Given the description of an element on the screen output the (x, y) to click on. 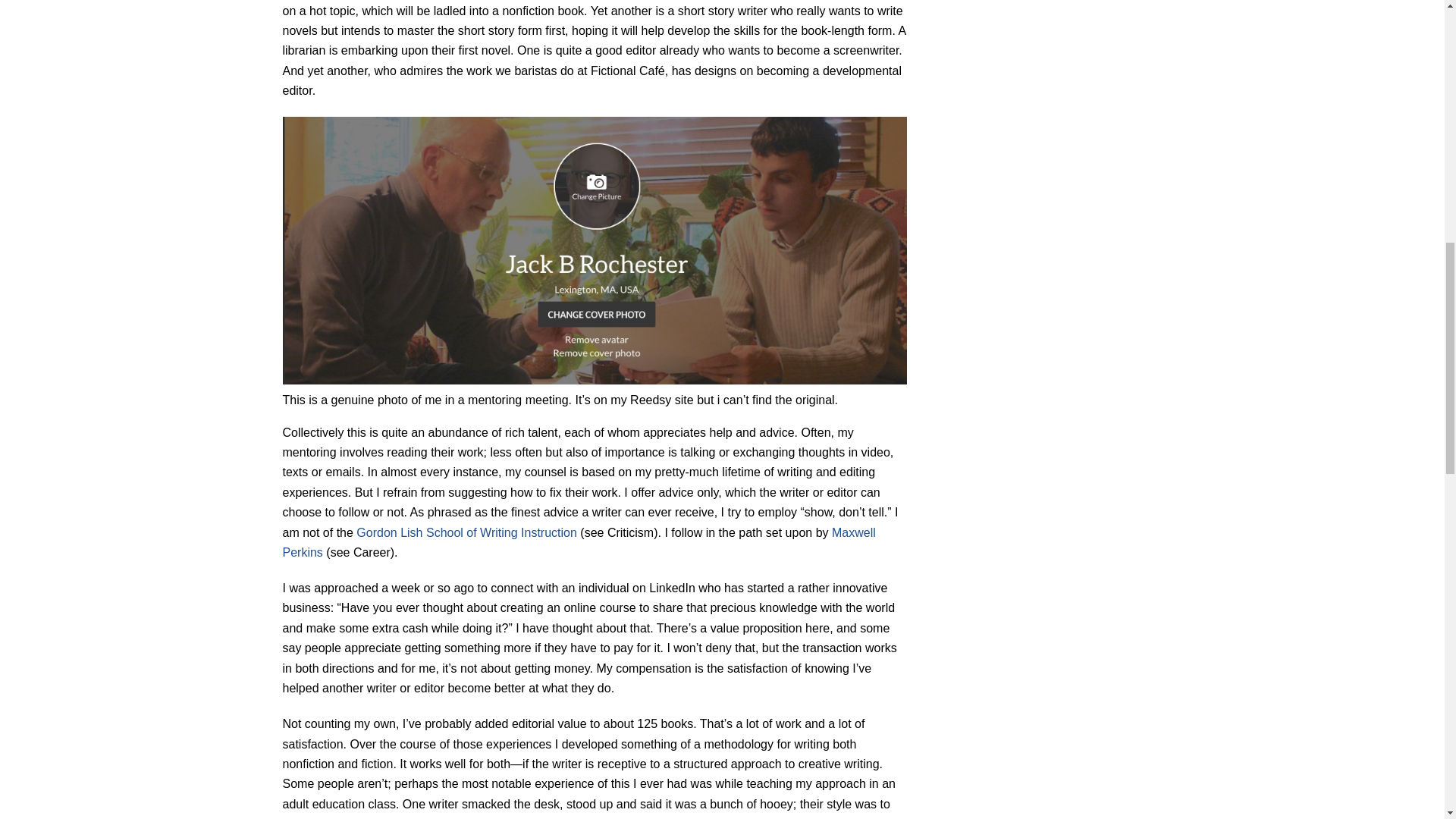
Gordon Lish School of Writing Instruction (466, 532)
Maxwell Perkins (578, 542)
